Given the description of an element on the screen output the (x, y) to click on. 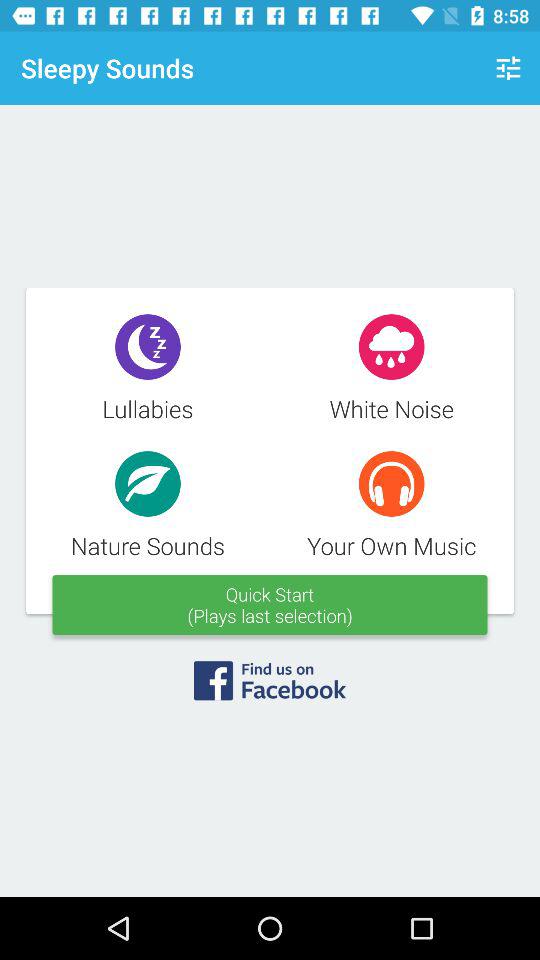
launch icon below the quick start plays item (269, 687)
